Given the description of an element on the screen output the (x, y) to click on. 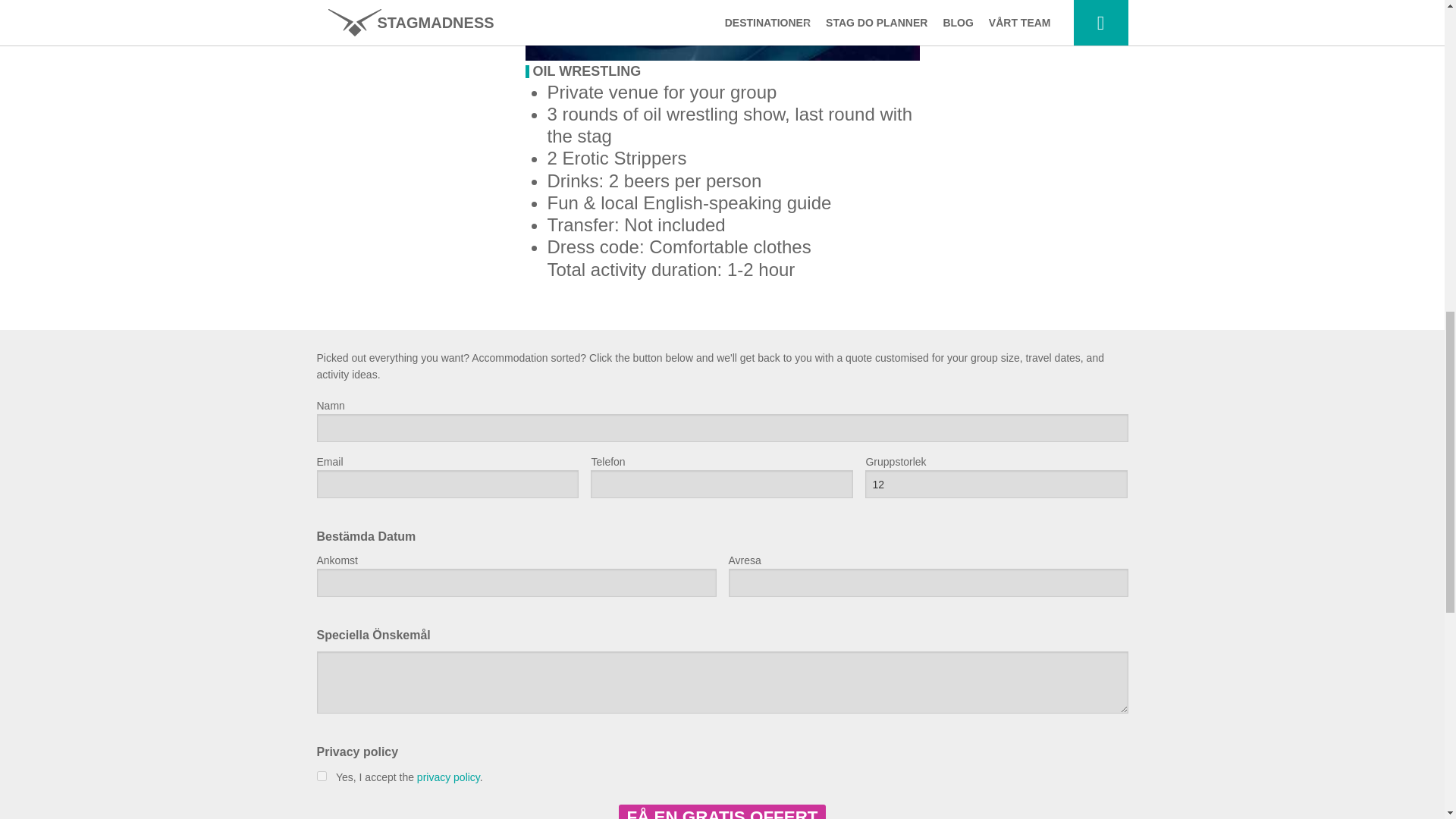
12 (995, 483)
OIL WRESTLING (586, 70)
1 (321, 776)
privacy policy (448, 776)
